Given the description of an element on the screen output the (x, y) to click on. 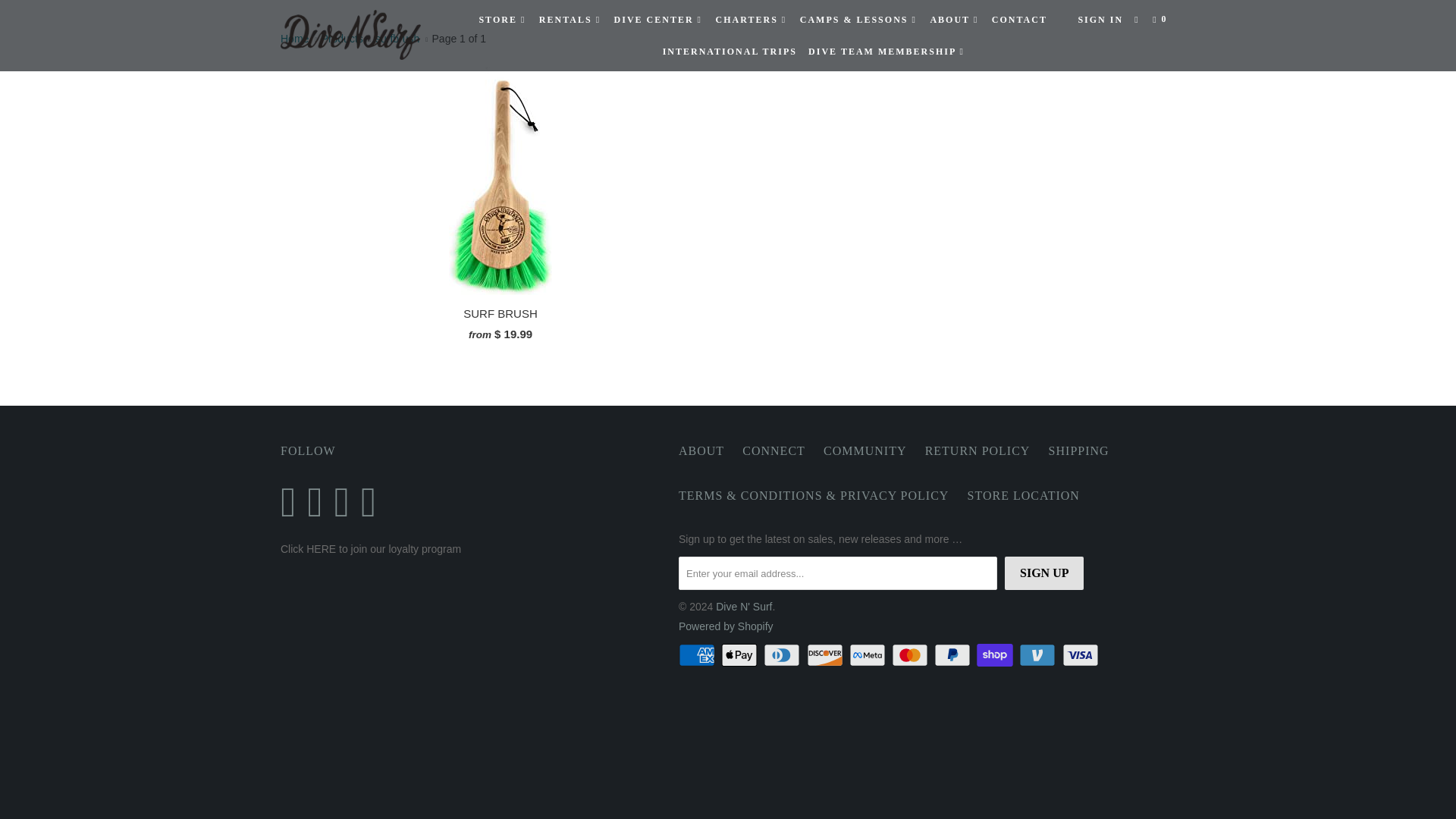
Sign Up (1043, 572)
My Account  (1099, 19)
surfbrush (397, 38)
Dive N' Surf (358, 35)
Products (341, 38)
Dive N' Surf (294, 38)
